Given the description of an element on the screen output the (x, y) to click on. 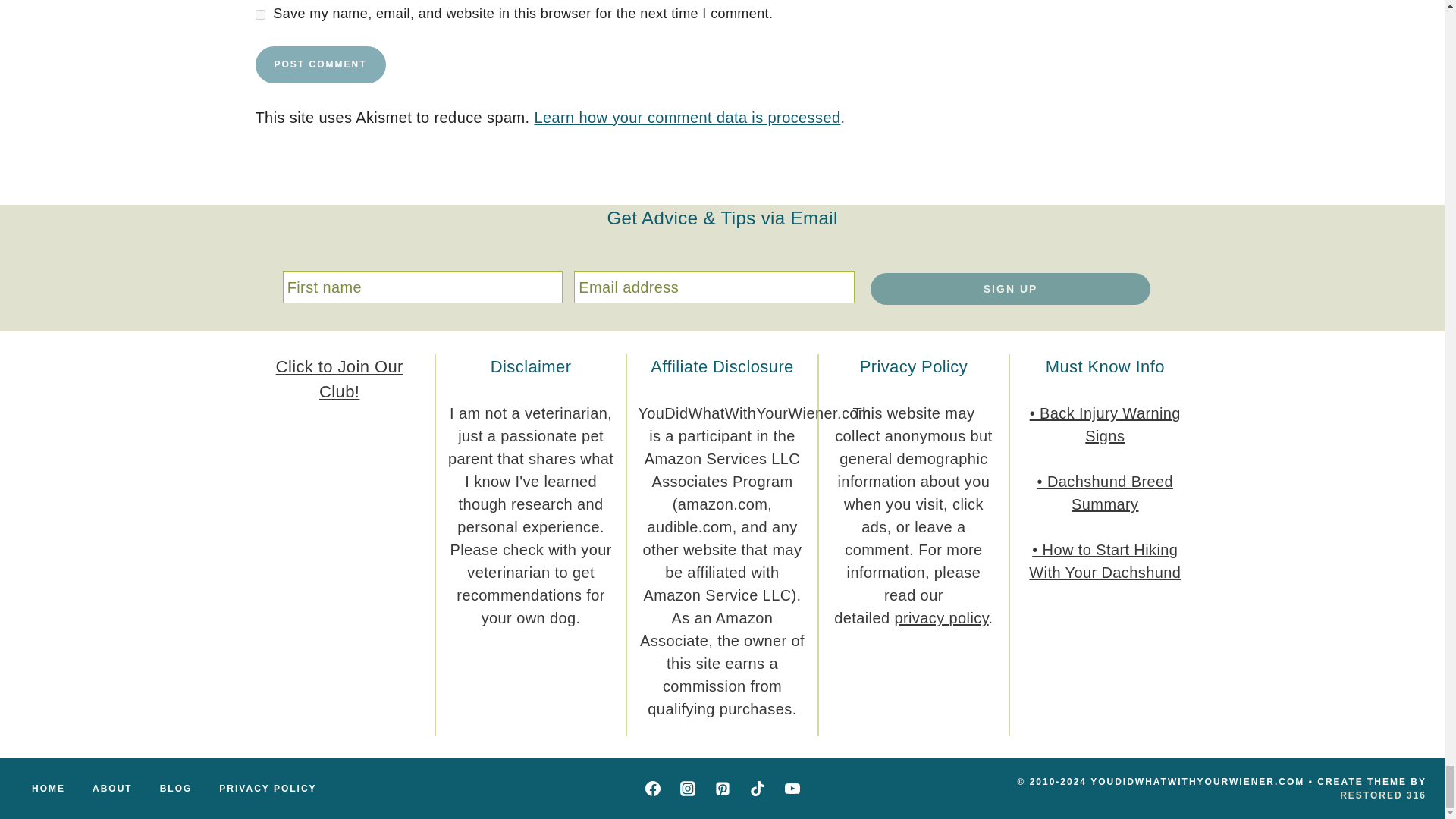
yes (259, 14)
Sign up (1010, 288)
Post Comment (319, 64)
